Given the description of an element on the screen output the (x, y) to click on. 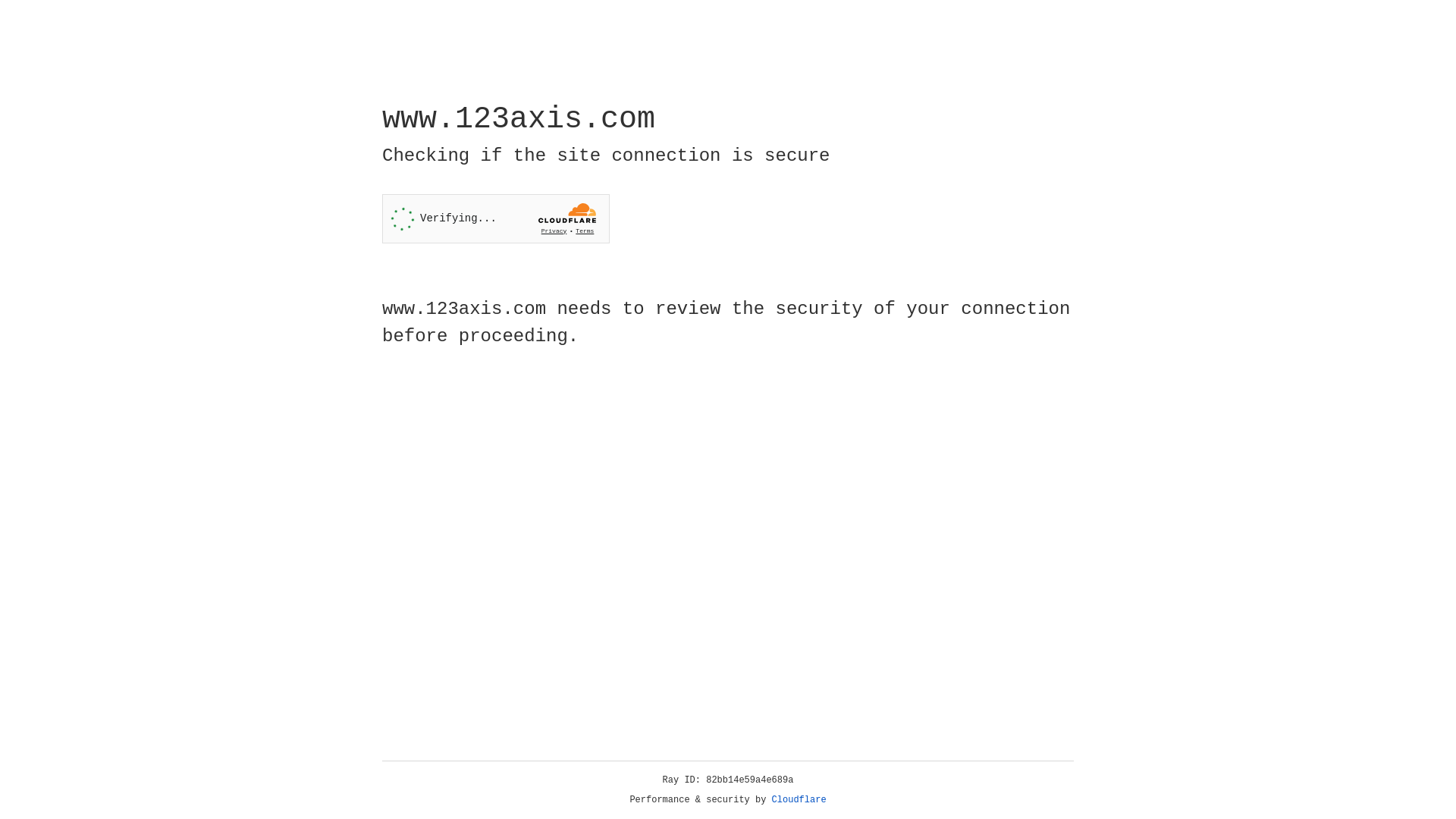
Widget containing a Cloudflare security challenge Element type: hover (495, 218)
Cloudflare Element type: text (798, 799)
